Given the description of an element on the screen output the (x, y) to click on. 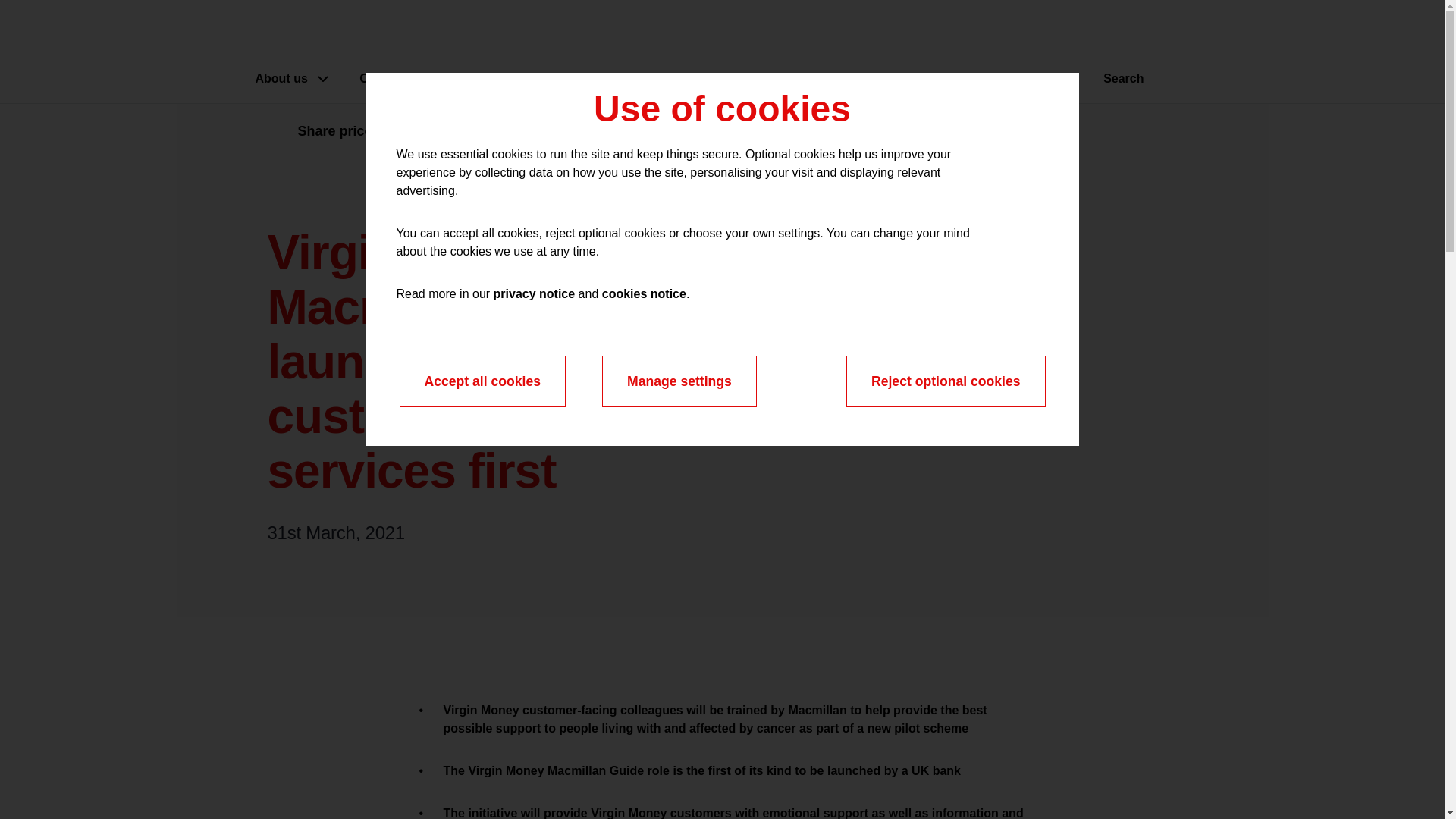
Virgin Money UK PLC homepage (434, 36)
Virgin Money UK PLC homepage (434, 36)
About us (292, 78)
Newsroom (671, 78)
Our people (402, 78)
Corporate sustainability (823, 78)
Virgin Money UK PLC homepage (428, 36)
Contact us (1044, 79)
Investor relations (537, 78)
